Given the description of an element on the screen output the (x, y) to click on. 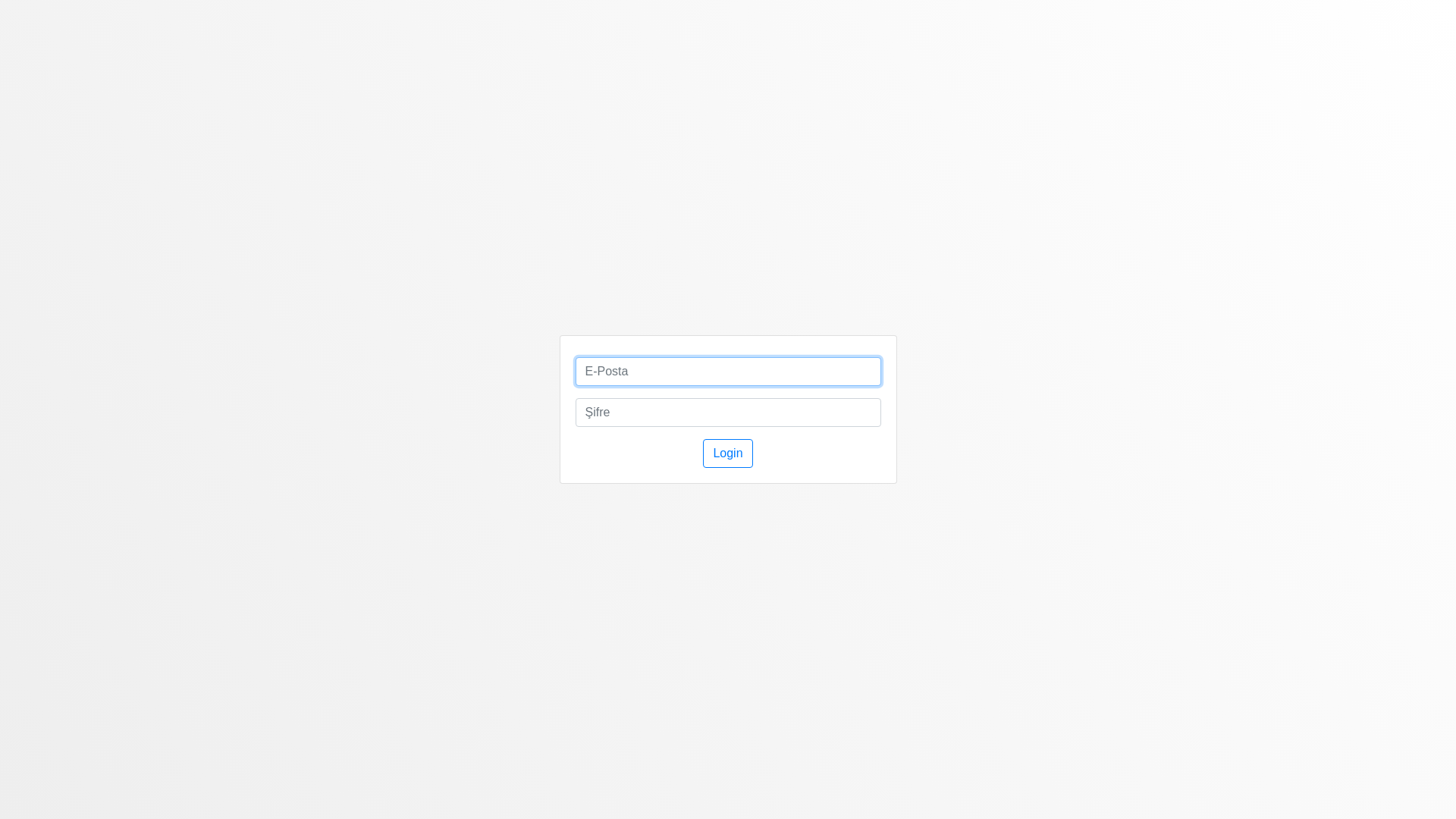
Login Element type: text (727, 453)
